Given the description of an element on the screen output the (x, y) to click on. 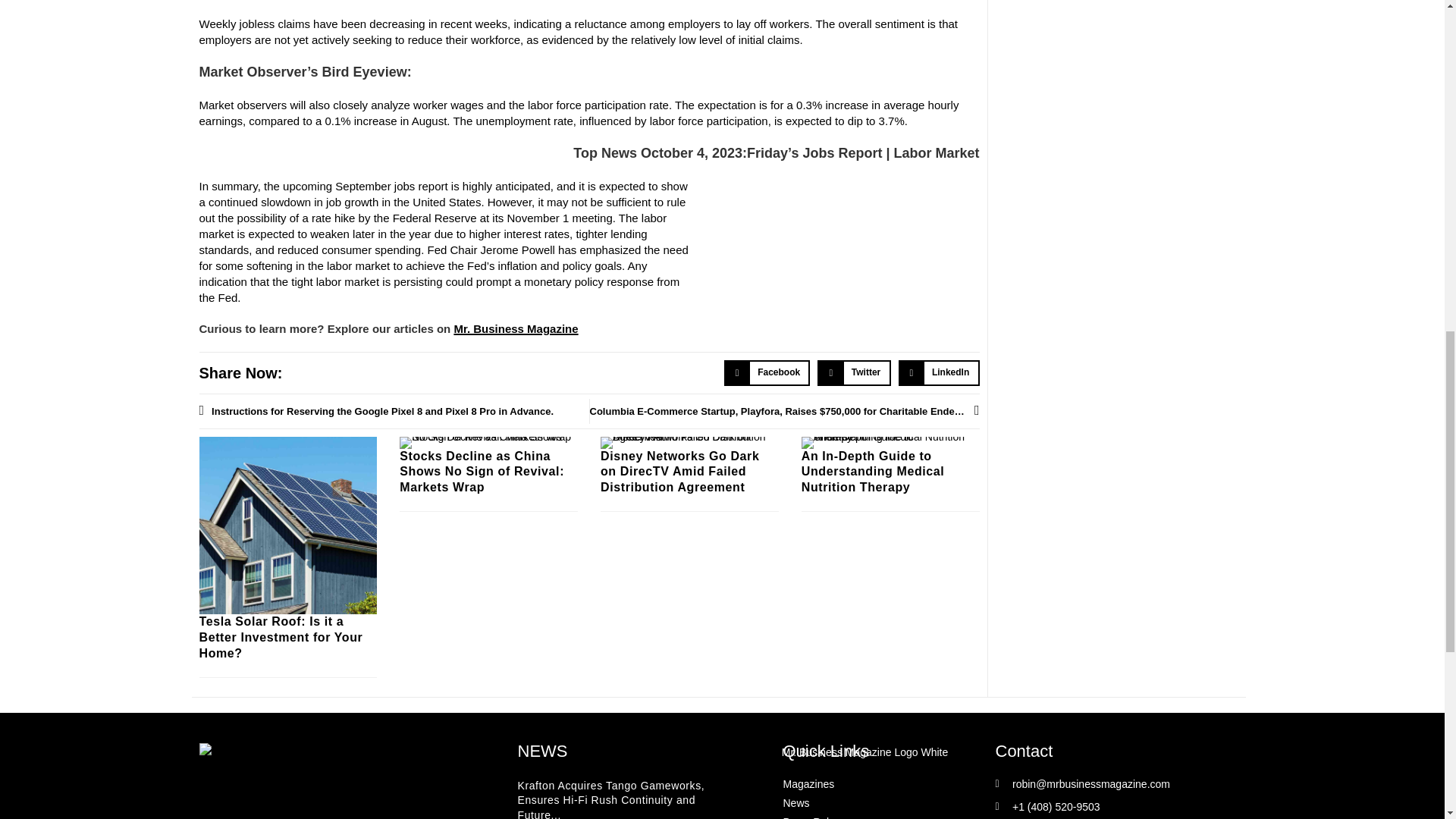
Mr. Business Magazine (515, 328)
Tesla Solar Roof: Is it a Better Investment for Your Home? (280, 637)
